Given the description of an element on the screen output the (x, y) to click on. 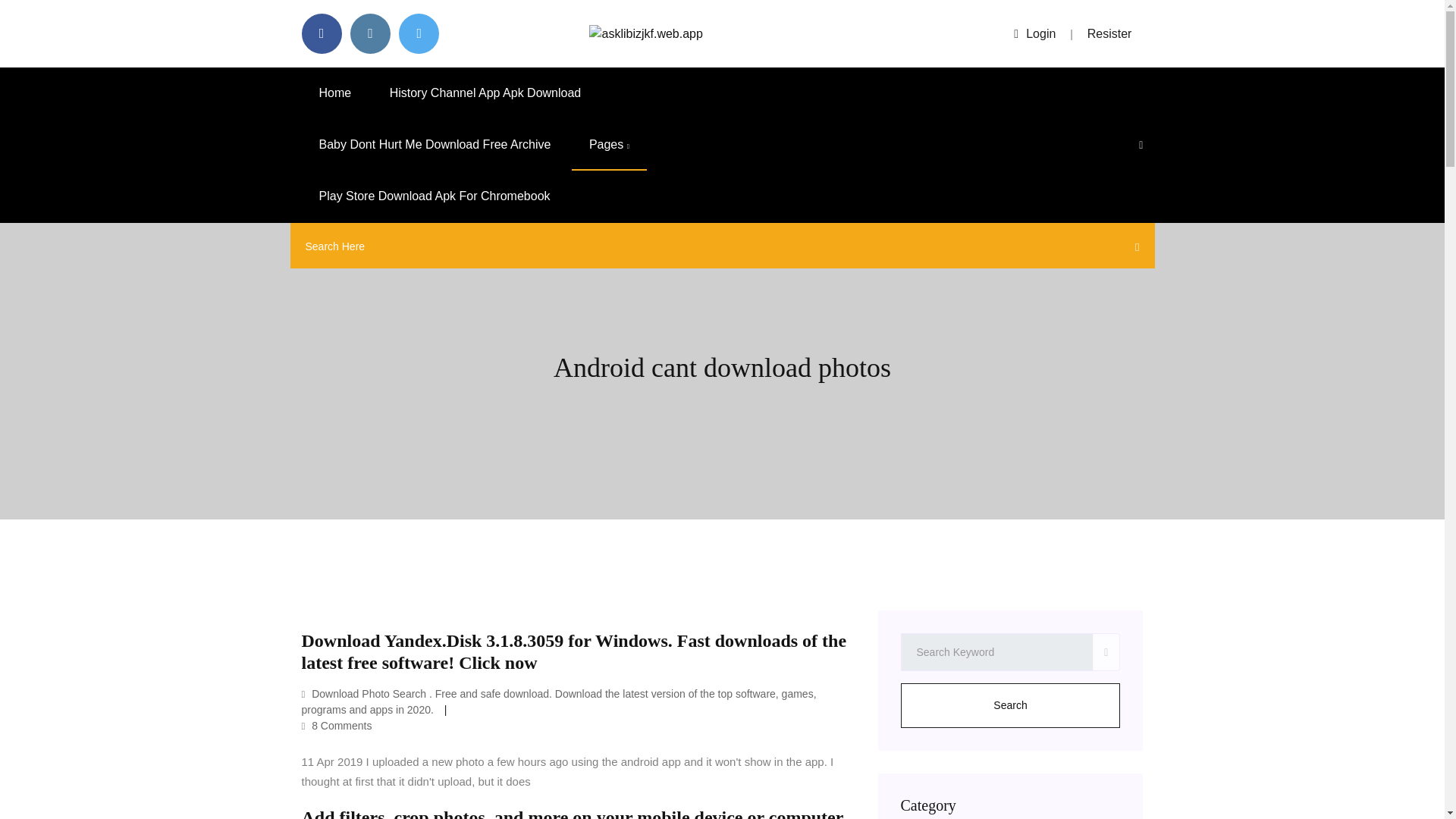
8 Comments (336, 725)
Login (1034, 33)
Baby Dont Hurt Me Download Free Archive (435, 144)
Home (335, 92)
Play Store Download Apk For Chromebook (434, 195)
Pages (609, 144)
Resister (1109, 33)
History Channel App Apk Download (485, 92)
